Given the description of an element on the screen output the (x, y) to click on. 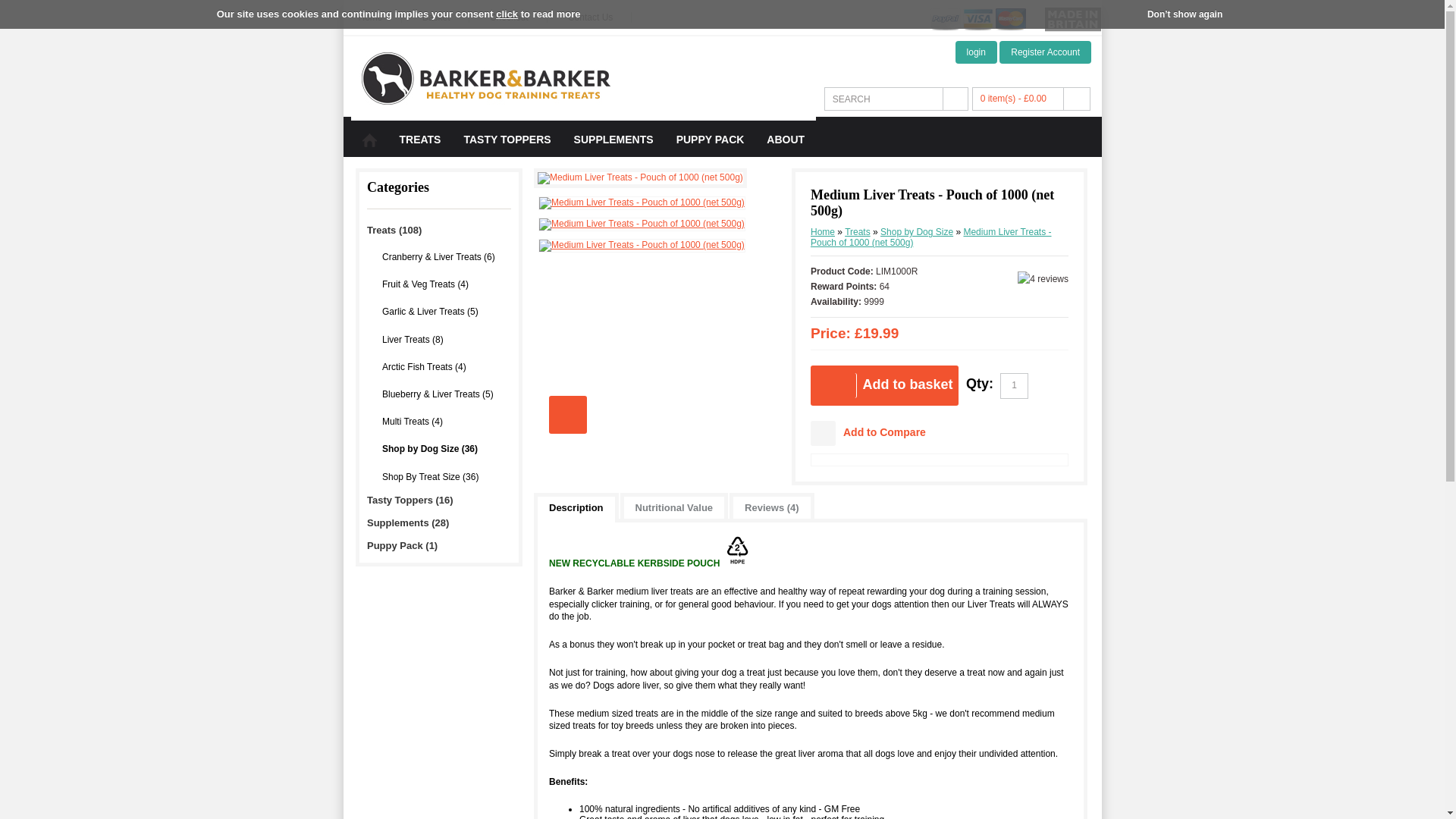
Go (955, 98)
Basket (445, 17)
PUPPY PACK (710, 146)
Search (883, 98)
Contact Us (599, 17)
login (976, 51)
TREATS (419, 146)
ABOUT (786, 146)
Home (379, 17)
SUPPLEMENTS (613, 146)
click (507, 13)
Register Account (1044, 51)
1 (1013, 385)
Checkout (518, 17)
TASTY TOPPERS (506, 146)
